Given the description of an element on the screen output the (x, y) to click on. 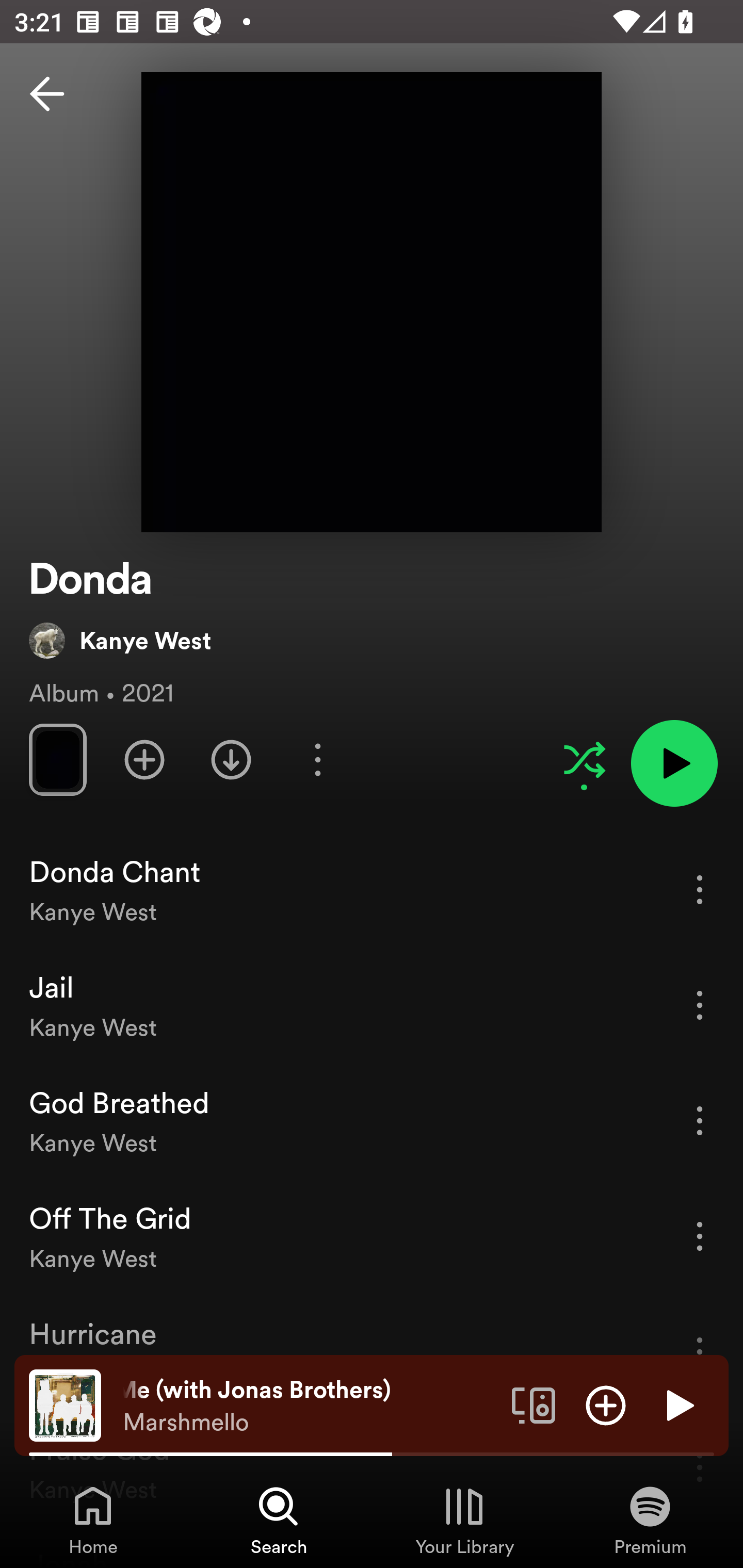
Back (46, 93)
Kanye West (119, 640)
Swipe through previews of tracks from this album. (57, 759)
Add playlist to Your Library (144, 759)
Download (230, 759)
More options for playlist Donda (317, 759)
Disable shuffle for this playlist (583, 759)
Play playlist (674, 763)
More options for song Donda Chant (699, 889)
Jail Kanye West More options for song Jail (371, 1005)
More options for song Jail (699, 1004)
More options for song God Breathed (699, 1120)
More options for song Off The Grid (699, 1236)
The cover art of the currently playing track (64, 1404)
Connect to a device. Opens the devices menu (533, 1404)
Add item (605, 1404)
Play (677, 1404)
Home, Tab 1 of 4 Home Home (92, 1519)
Search, Tab 2 of 4 Search Search (278, 1519)
Your Library, Tab 3 of 4 Your Library Your Library (464, 1519)
Premium, Tab 4 of 4 Premium Premium (650, 1519)
